Given the description of an element on the screen output the (x, y) to click on. 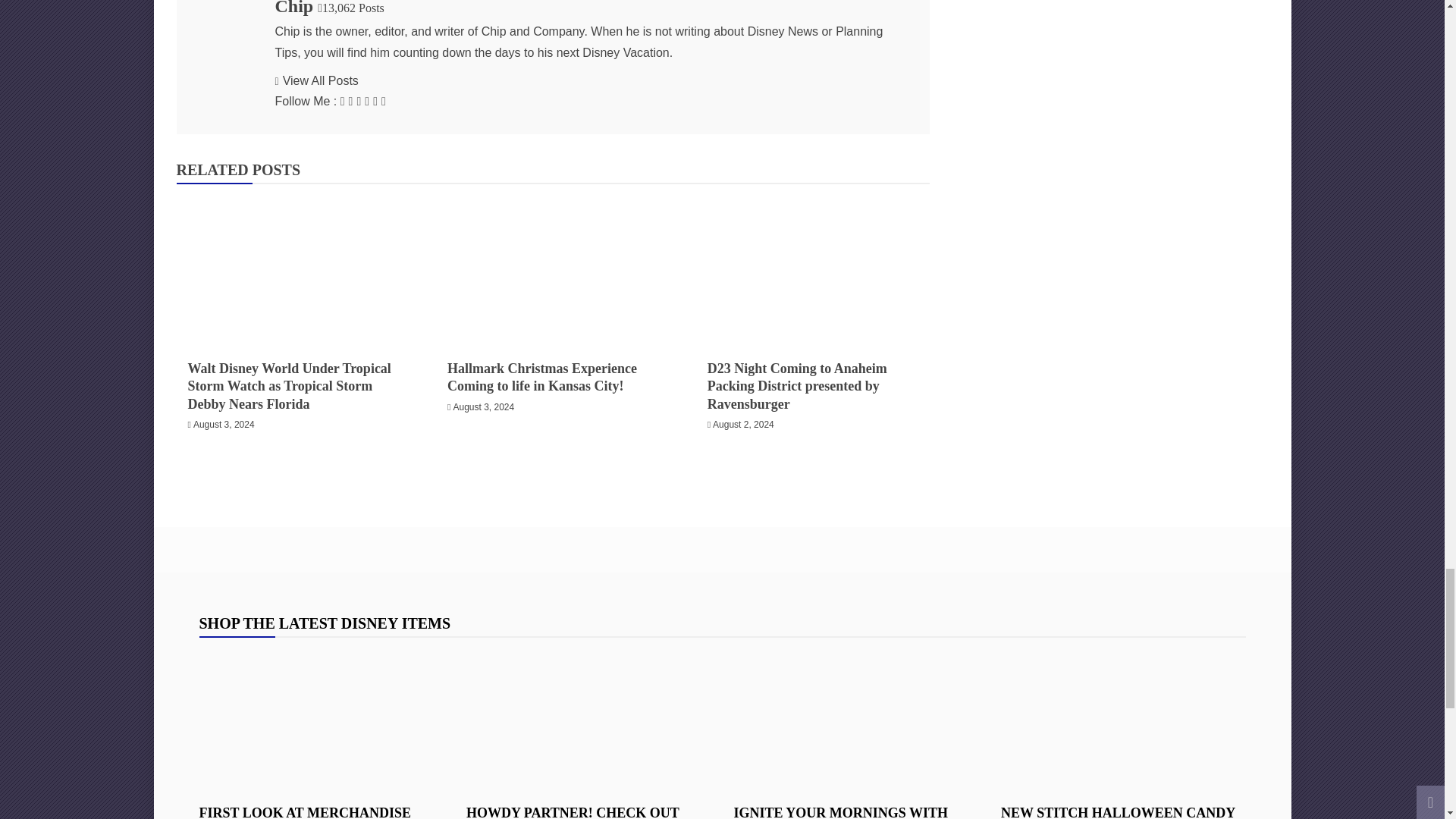
Hallmark Christmas Experience Coming to life in Kansas City! (552, 268)
New Stitch Halloween Candy Bowl Takes Over Disney Springs (1123, 719)
Howdy Partner! Check Out This Woody Sheriff Hat Backpack! (588, 719)
Posts by Chip (294, 7)
Ignite Your Mornings With The Figment Mug and Saucer! (855, 719)
